Given the description of an element on the screen output the (x, y) to click on. 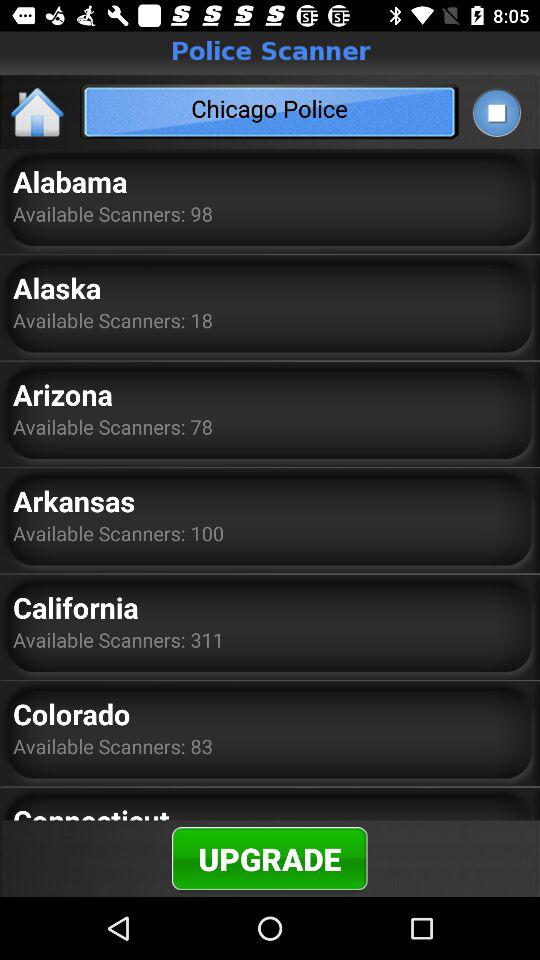
flip to arkansas app (74, 500)
